Given the description of an element on the screen output the (x, y) to click on. 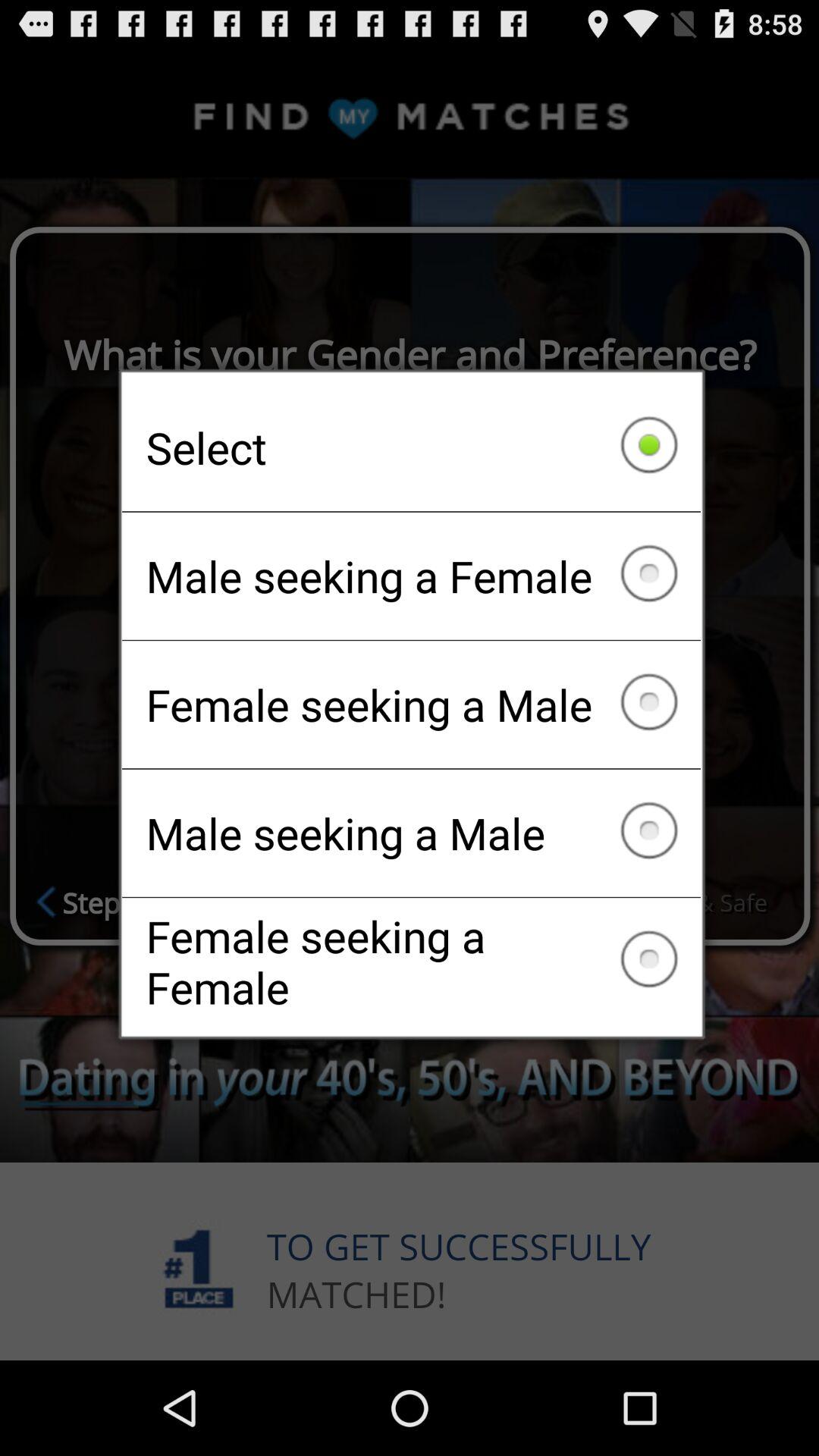
choose the select icon (411, 447)
